Given the description of an element on the screen output the (x, y) to click on. 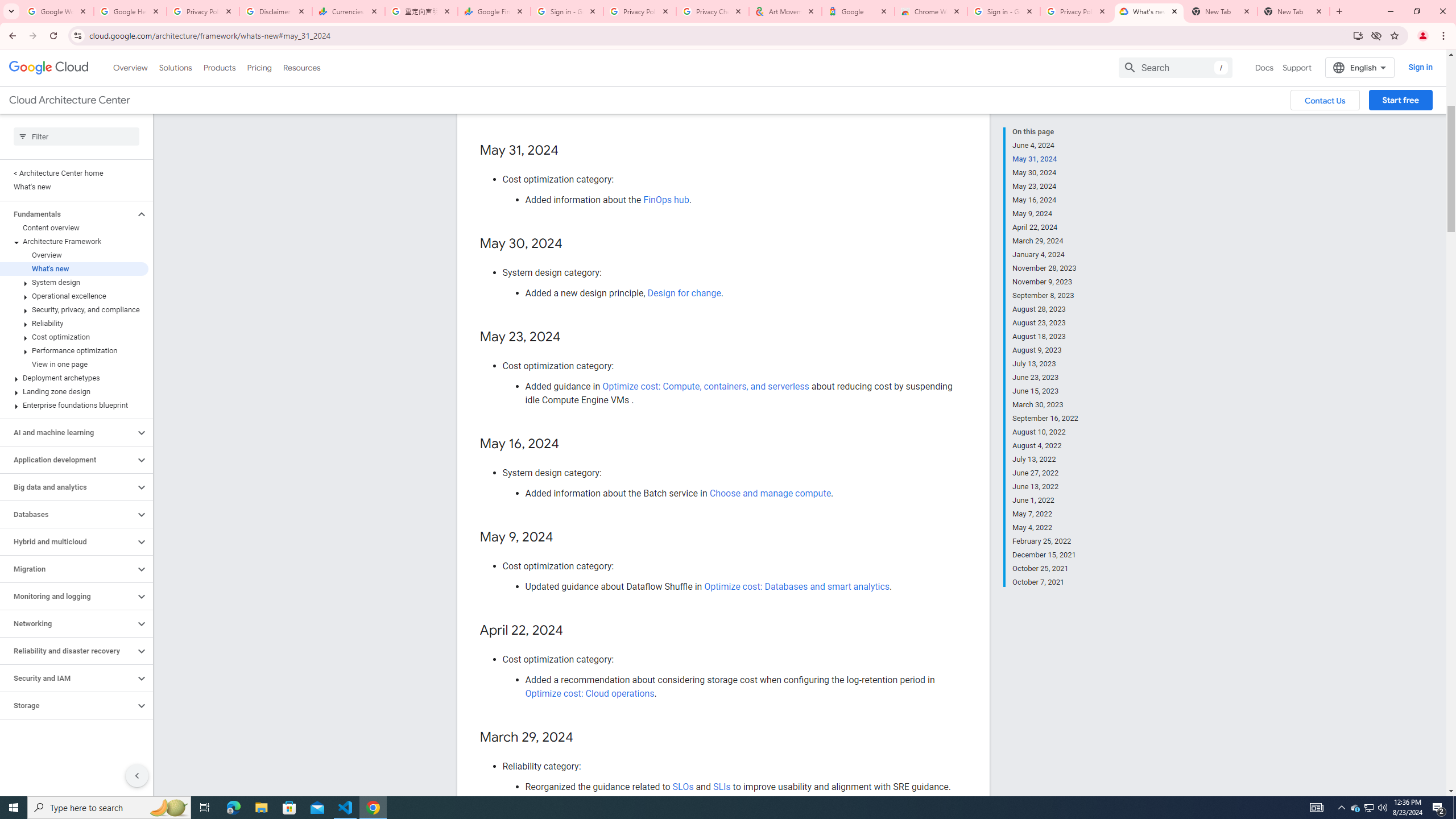
optimizing (654, 92)
June 13, 2022 (1044, 486)
Copy link to this section: May 23, 2024 (571, 337)
July 13, 2023 (1044, 364)
Resources (301, 67)
View in one page (74, 364)
Reliability (74, 323)
Security and IAM (67, 678)
Overview (74, 255)
December 15, 2021 (1044, 554)
May 7, 2022 (1044, 513)
Copy link to this section: May 16, 2024 (570, 444)
Copy link to this section: May 30, 2024 (573, 244)
Google Workspace Admin Community (57, 11)
